Given the description of an element on the screen output the (x, y) to click on. 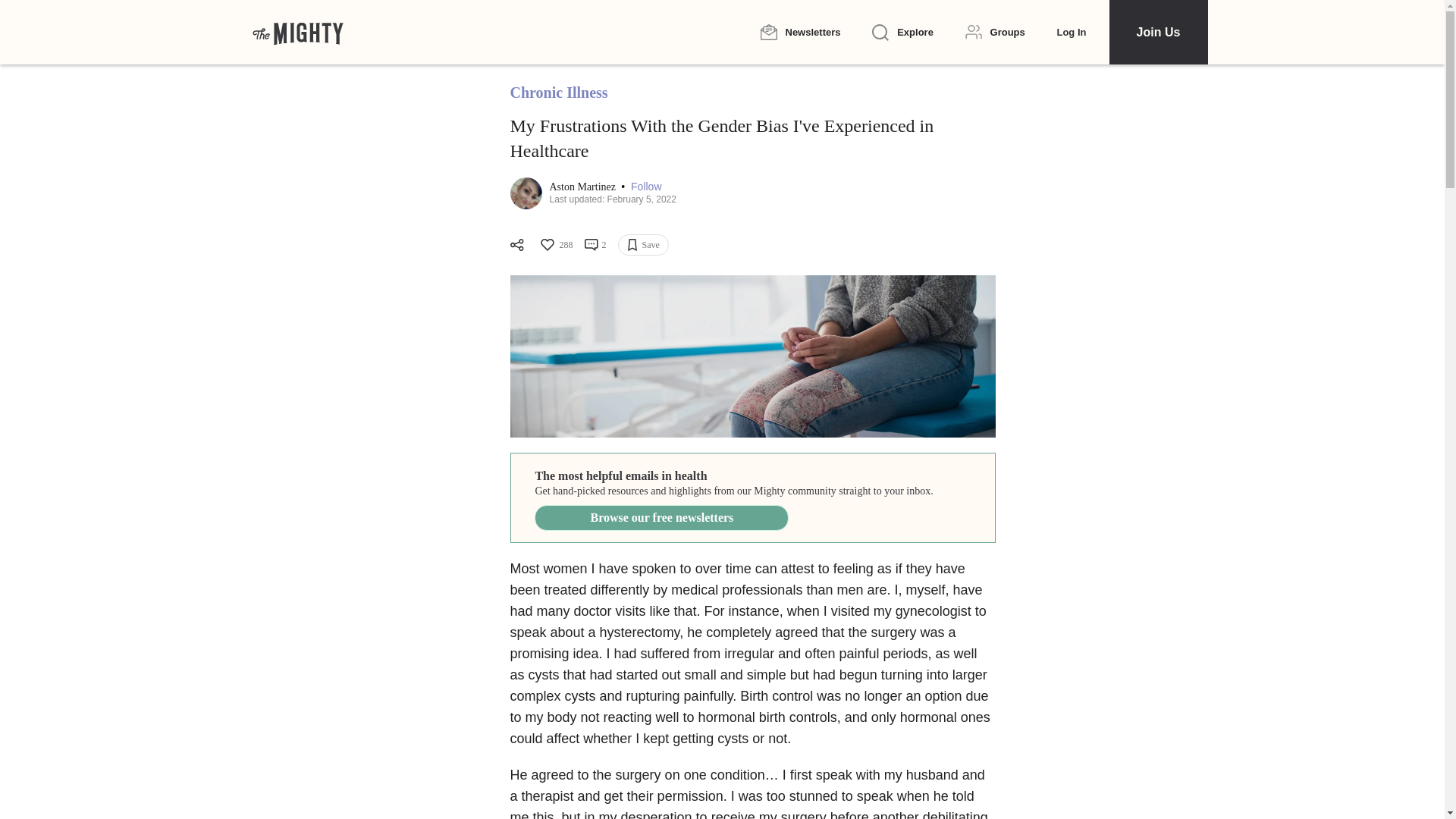
Aston Martinez (582, 186)
Groups (995, 32)
The Mighty (296, 32)
Chronic Illness (558, 92)
Save (642, 244)
Join Us (1157, 32)
Gender Bias and Discrimination Against Women in Healthcare (751, 356)
Browse our free newsletters (661, 517)
288 (555, 244)
2 (594, 244)
